Given the description of an element on the screen output the (x, y) to click on. 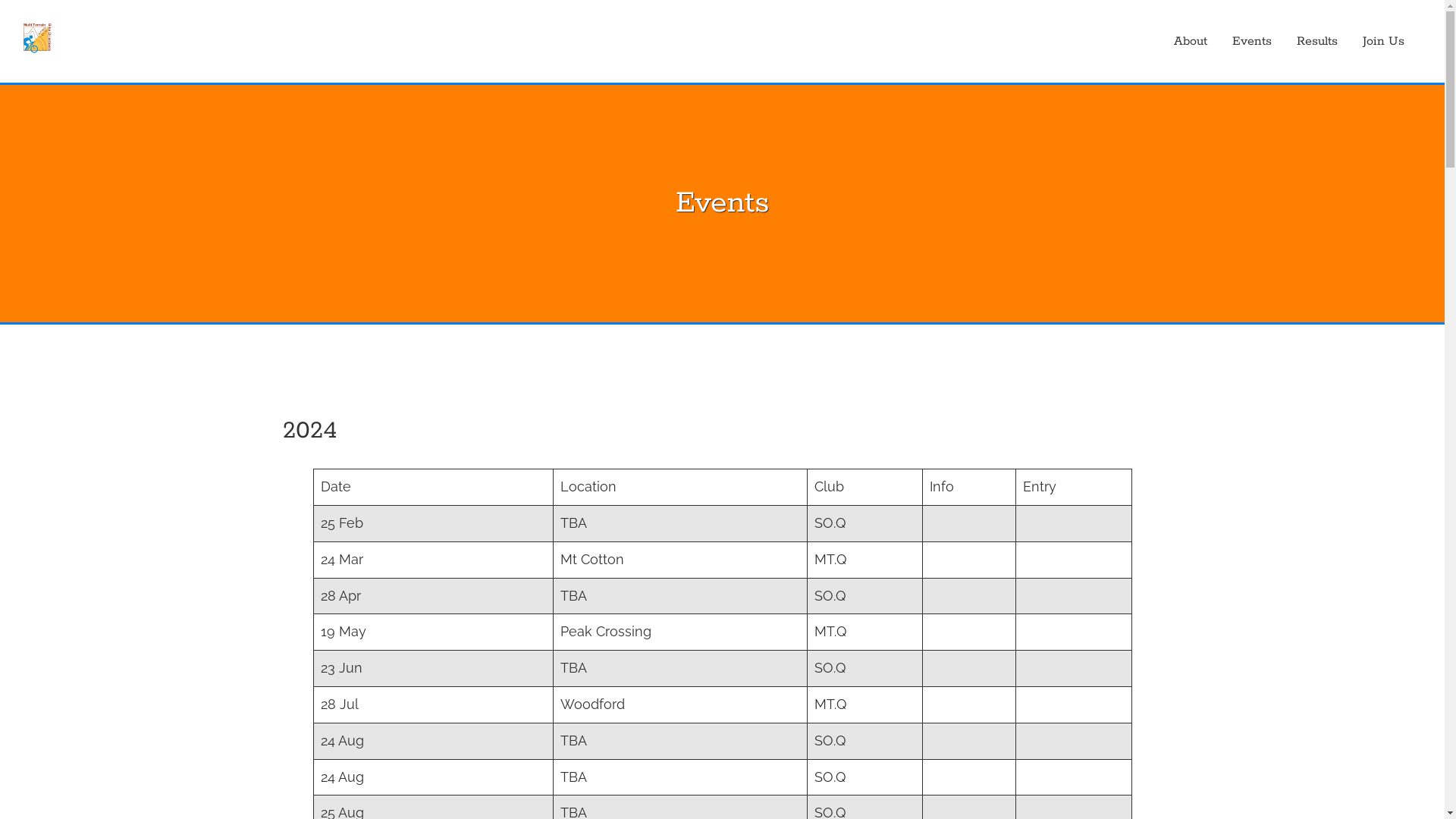
Join Us Element type: text (1383, 41)
Results Element type: text (1316, 41)
Events Element type: text (1251, 41)
About Element type: text (1190, 41)
